Given the description of an element on the screen output the (x, y) to click on. 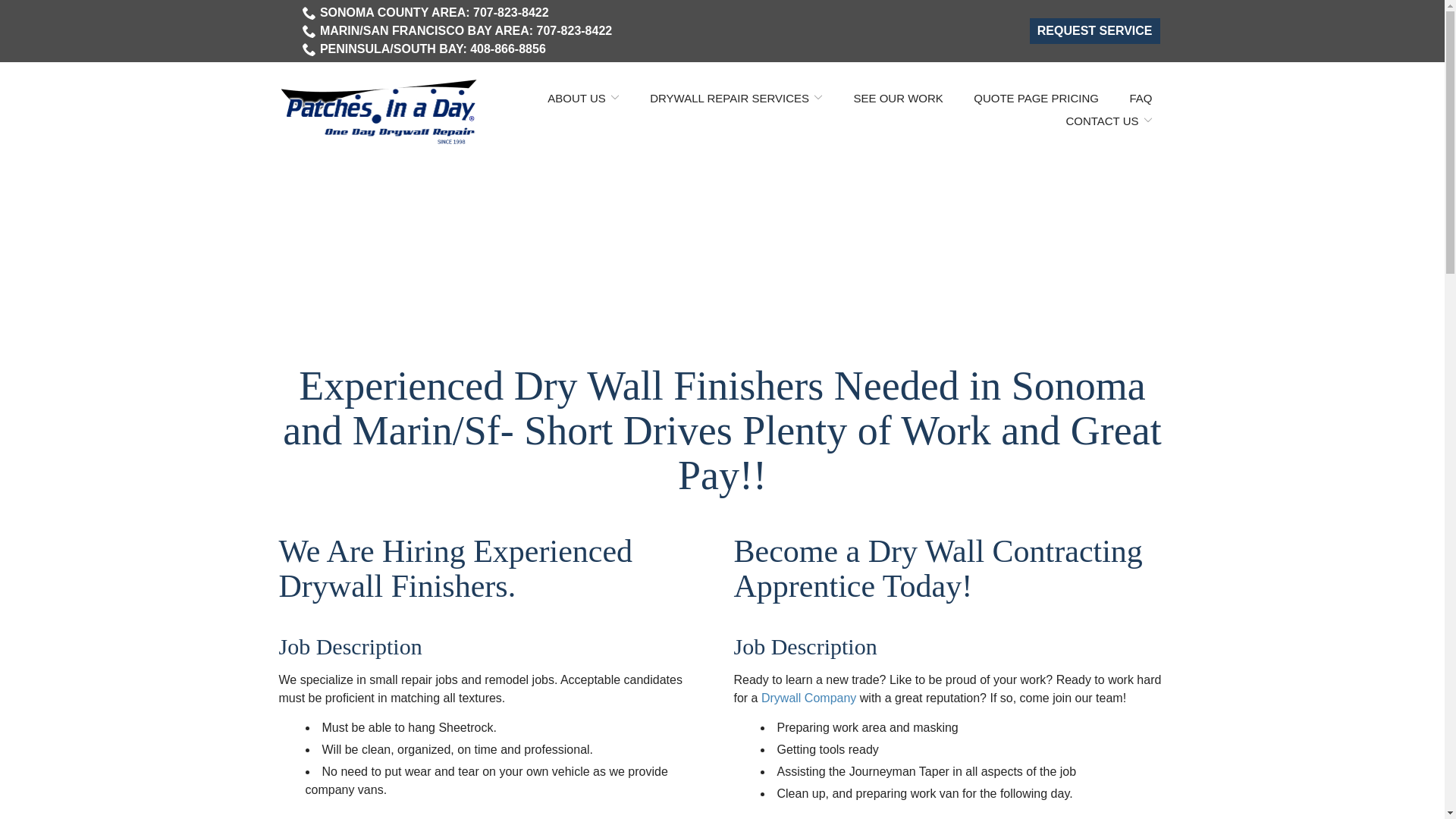
ABOUT US (582, 97)
SEE OUR WORK (897, 97)
QUOTE PAGE PRICING (1036, 97)
CONTACT US (1108, 119)
FAQ (1140, 97)
REQUEST SERVICE (1094, 31)
DRYWALL REPAIR SERVICES (735, 97)
SONOMA COUNTY AREA: 707-823-8422 (425, 13)
Drywall Company (808, 697)
